Given the description of an element on the screen output the (x, y) to click on. 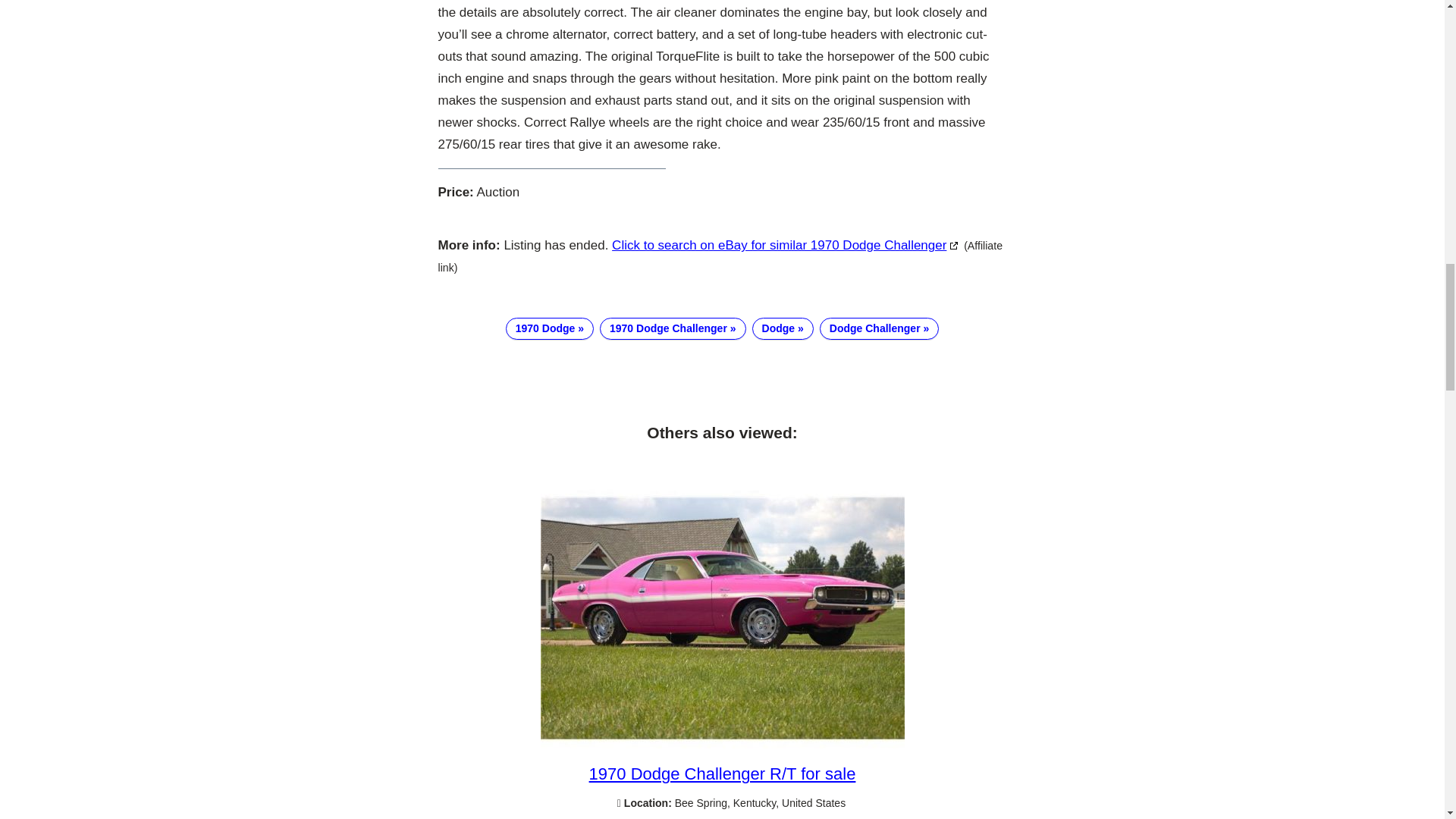
1970 Dodge Challenger (672, 328)
Click to search on eBay for similar 1970 Dodge Challenger (785, 245)
Dodge (782, 328)
Dodge Challenger (879, 328)
1970 Dodge (549, 328)
